Given the description of an element on the screen output the (x, y) to click on. 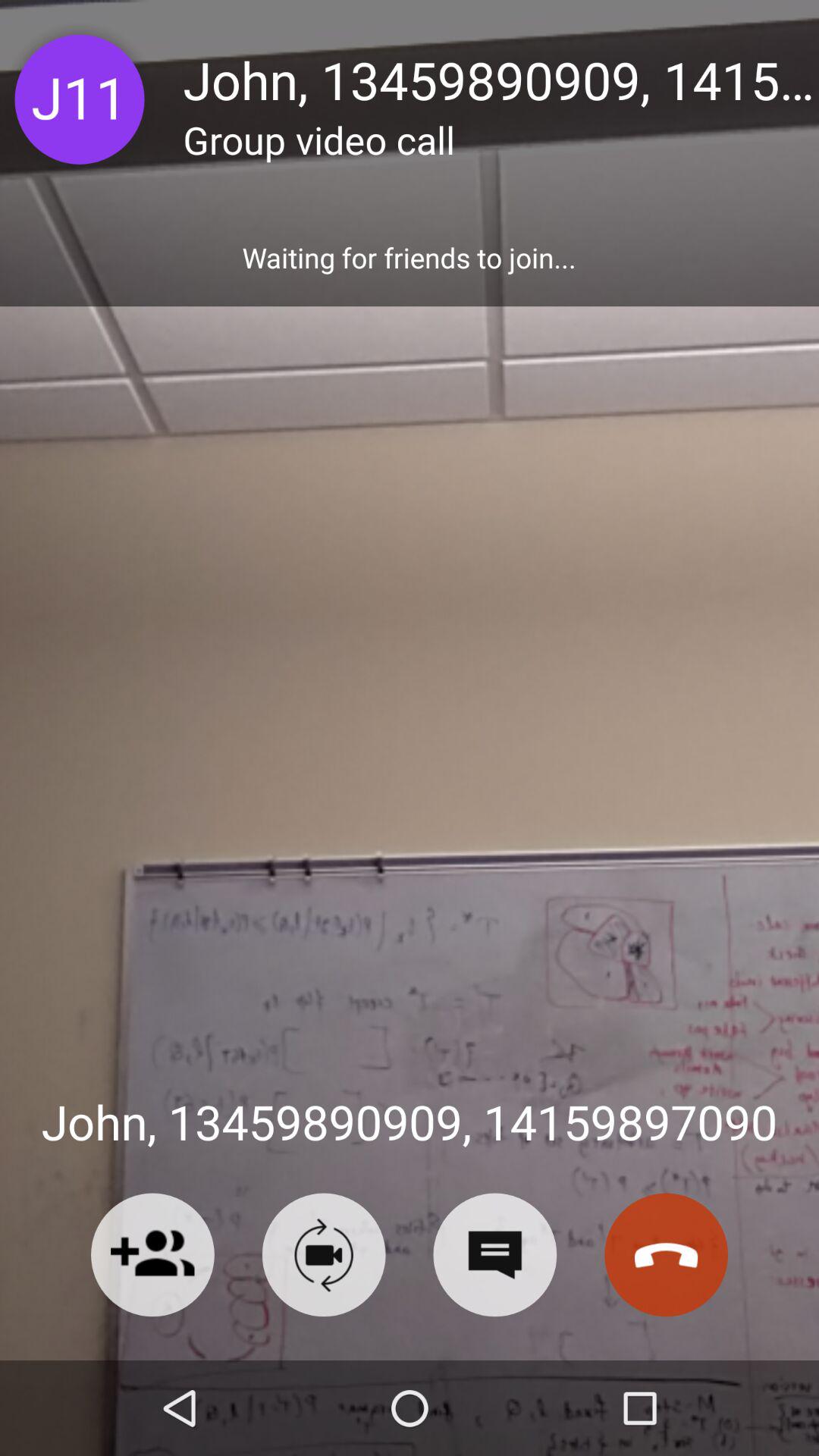
click to video calling (323, 1254)
